Given the description of an element on the screen output the (x, y) to click on. 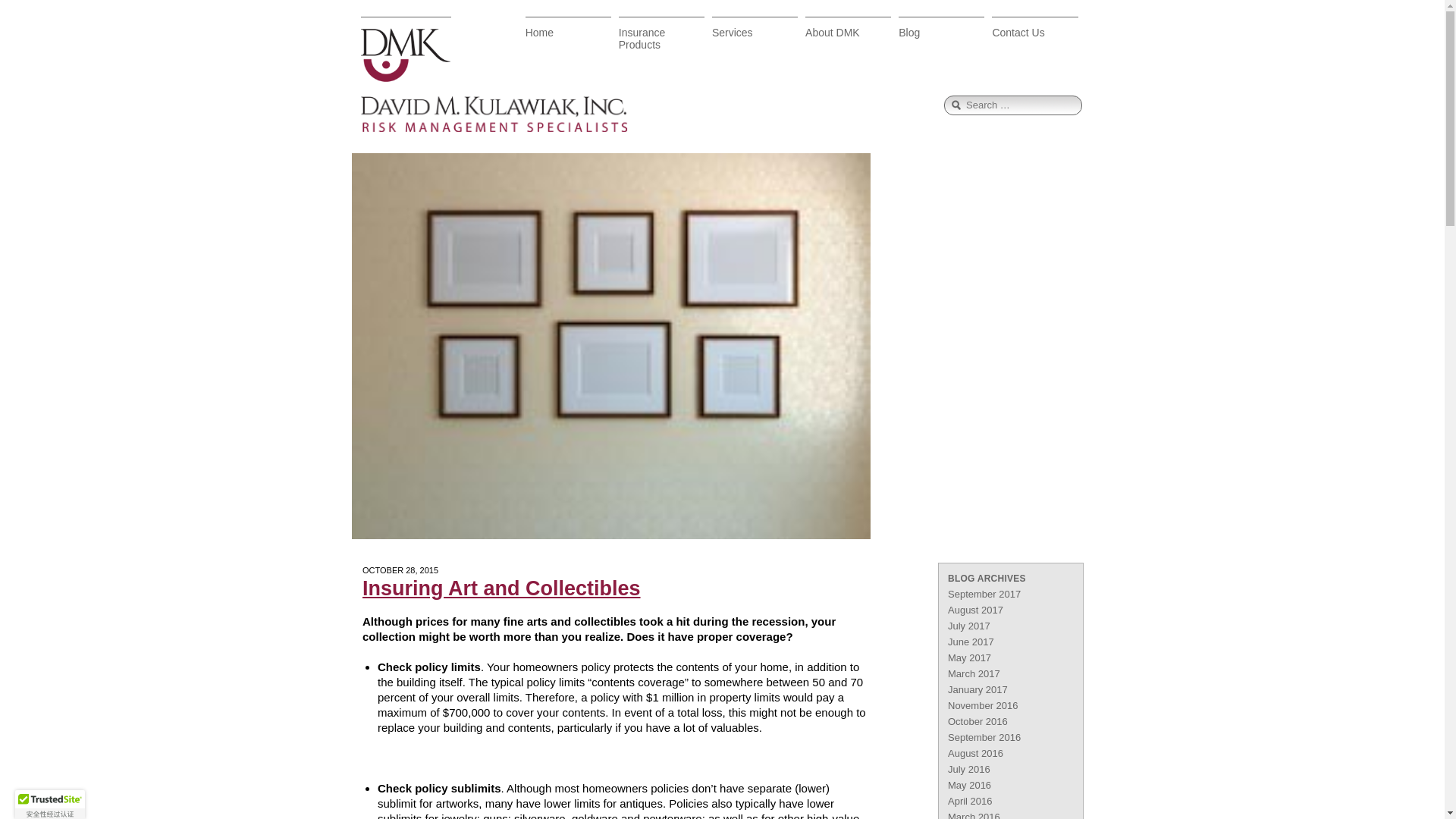
Home (568, 37)
Insuring Art and Collectibles (621, 588)
Insurance Products (661, 37)
TrustedSite Certified (49, 804)
